Given the description of an element on the screen output the (x, y) to click on. 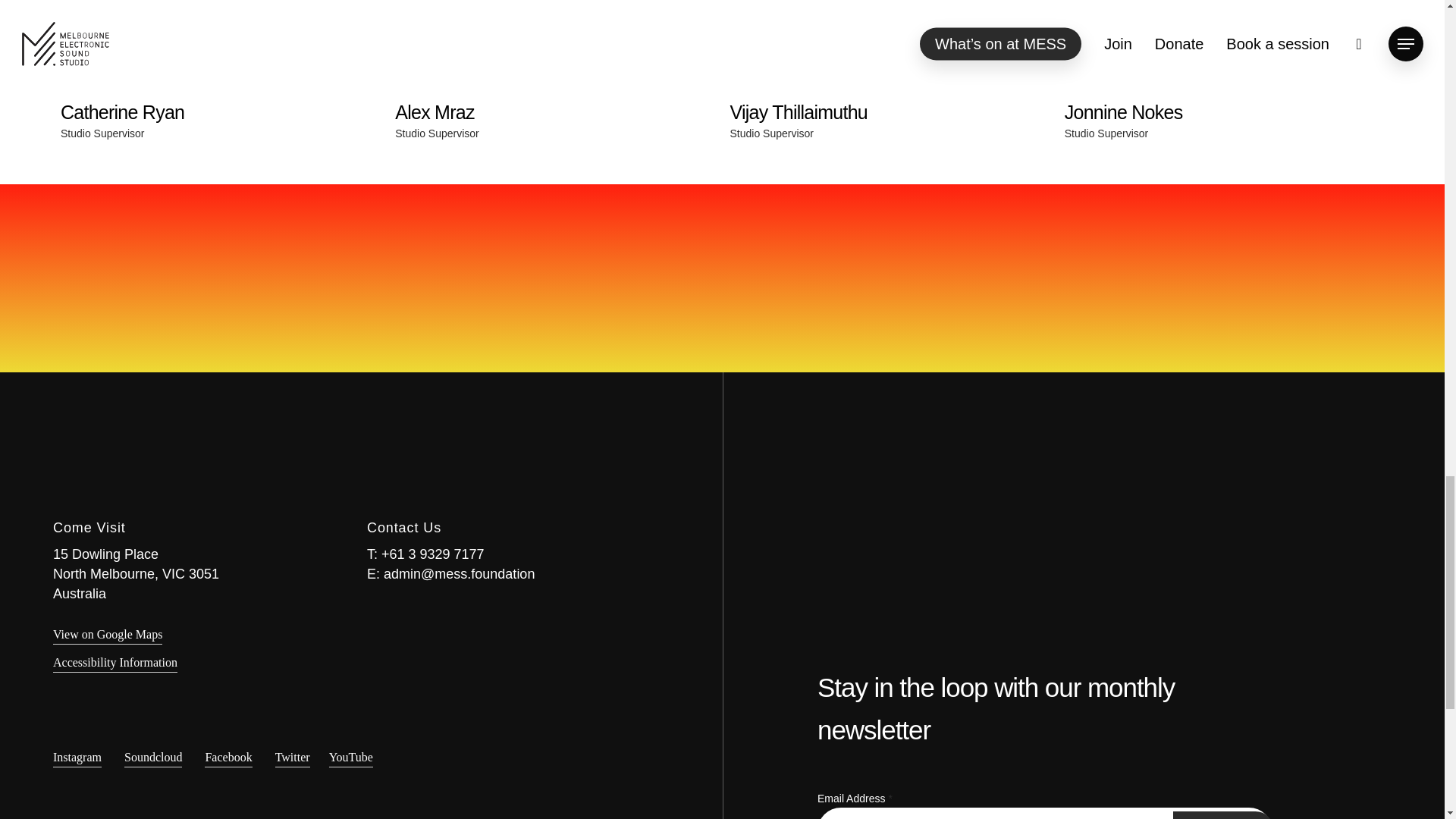
View on Google Maps (554, 90)
Twitter (106, 634)
Soundcloud (292, 757)
Subscribe (152, 757)
Facebook (220, 92)
Instagram (1223, 815)
Subscribe (228, 757)
Accessibility Information (76, 757)
YouTube (1223, 815)
